Given the description of an element on the screen output the (x, y) to click on. 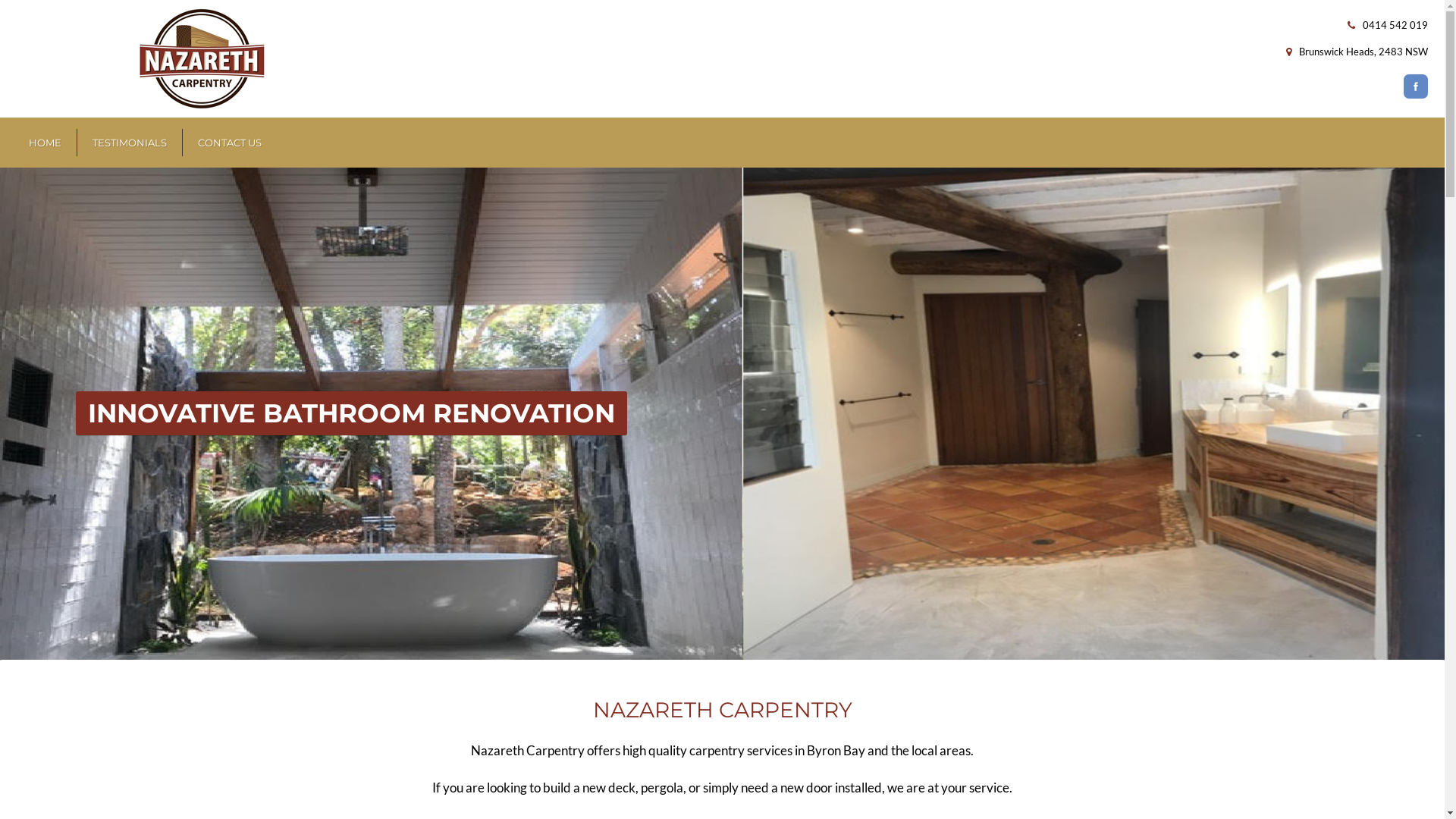
CONTACT US Element type: text (229, 142)
0414 542 019 Element type: text (1394, 24)
HOME Element type: text (44, 142)
Facebook Element type: text (1414, 86)
TESTIMONIALS Element type: text (129, 142)
Door Replacement Tweed Heads Element type: hover (722, 413)
